Given the description of an element on the screen output the (x, y) to click on. 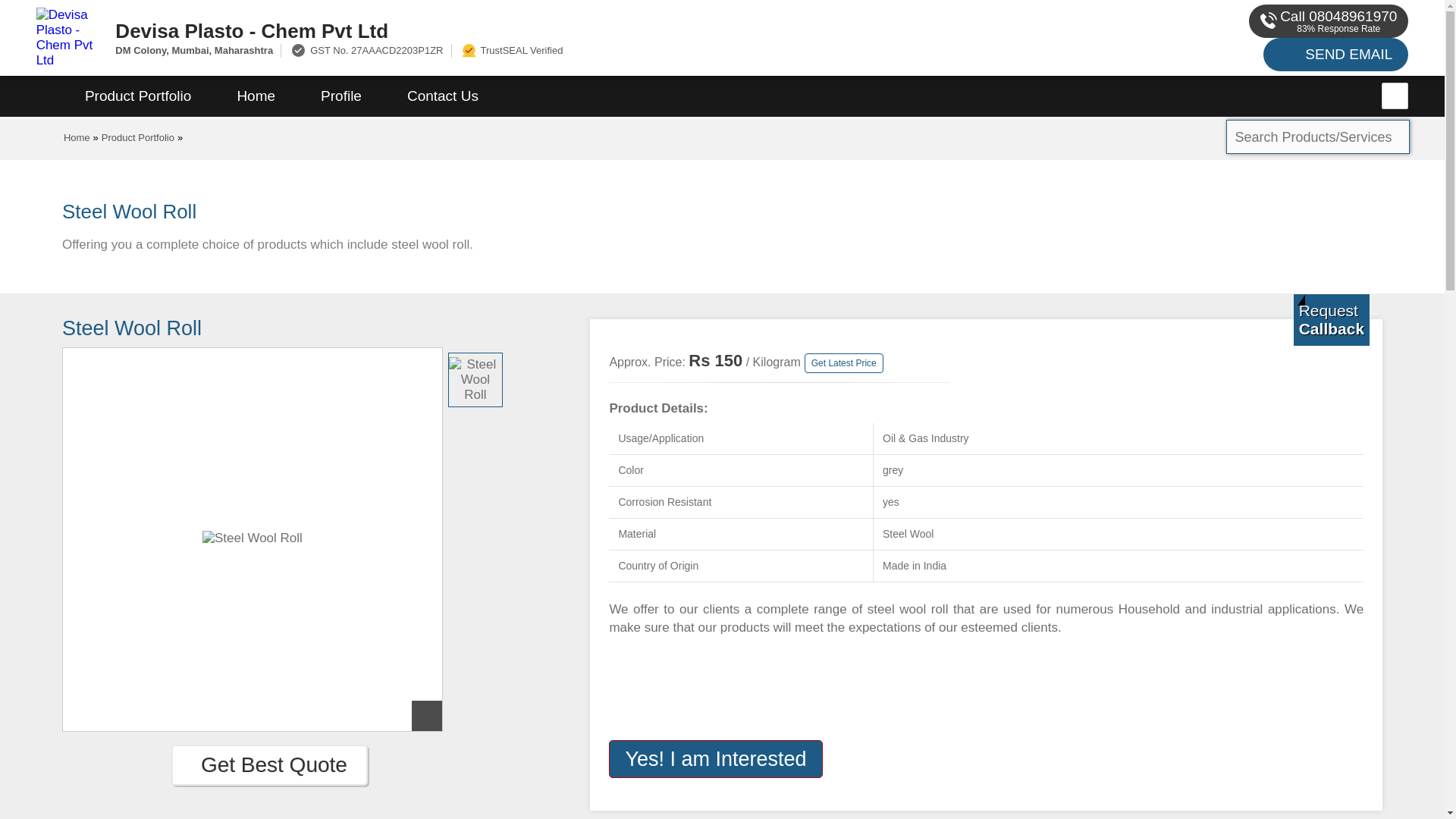
Home (256, 96)
Contact Us (442, 96)
Profile (341, 96)
Get a Call from us (1332, 319)
Home (77, 137)
Product Portfolio (138, 96)
Product Portfolio (137, 137)
Devisa Plasto - Chem Pvt Ltd (552, 31)
